Given the description of an element on the screen output the (x, y) to click on. 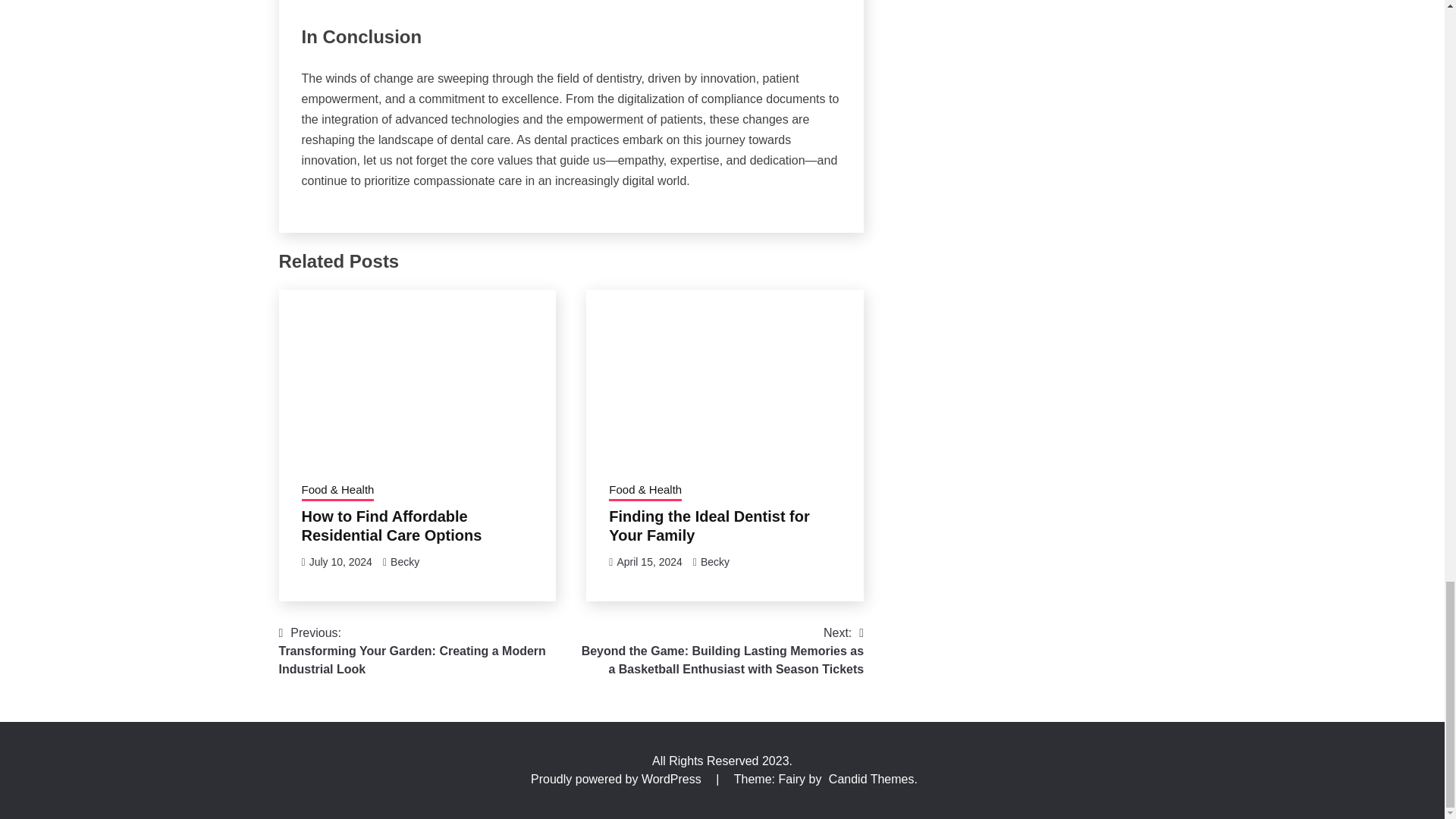
Becky (714, 562)
How to Find Affordable Residential Care Options (391, 525)
Finding the Ideal Dentist for Your Family (708, 525)
July 10, 2024 (340, 562)
Becky (404, 562)
April 15, 2024 (648, 562)
